Given the description of an element on the screen output the (x, y) to click on. 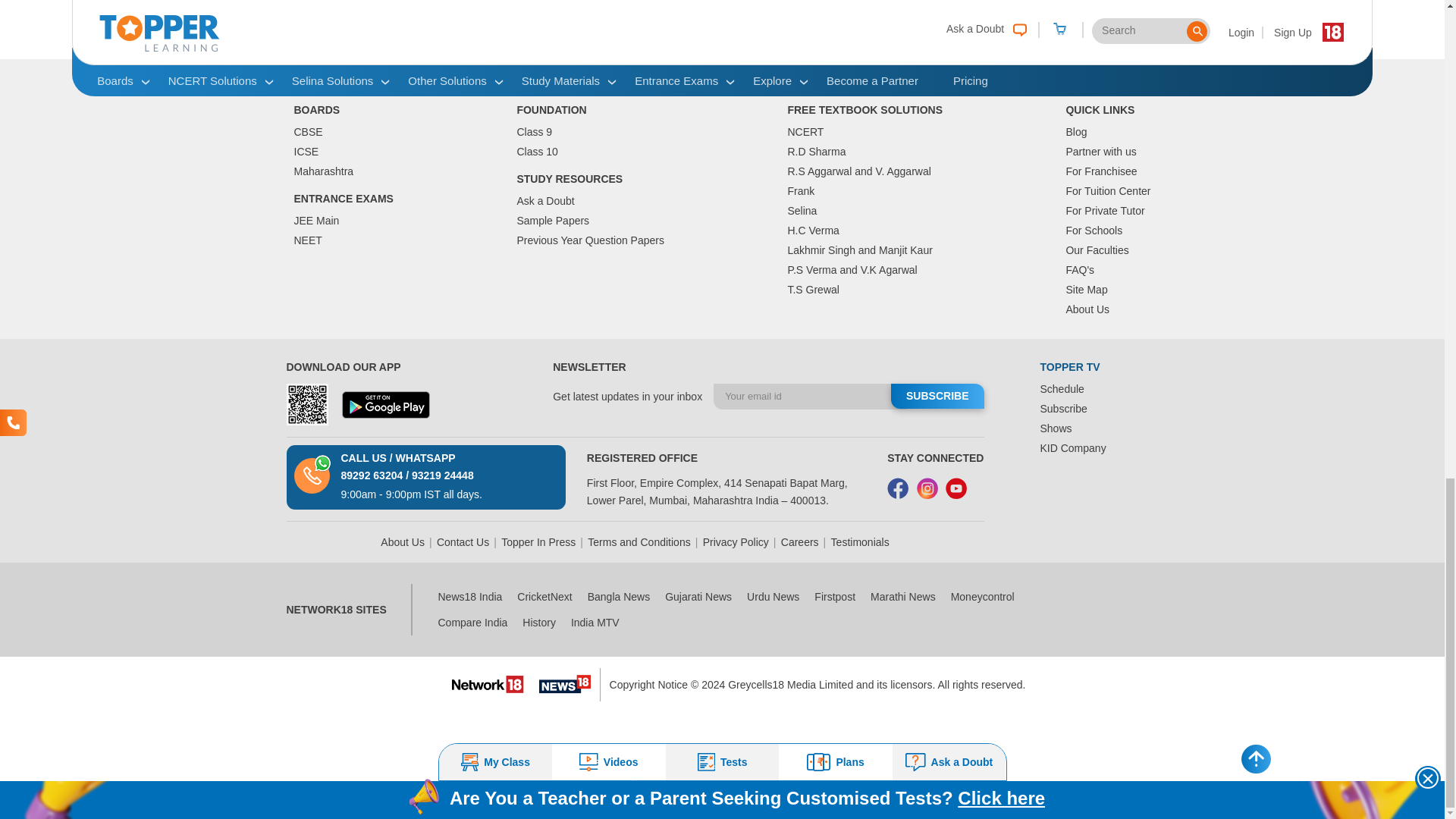
Googleplay (385, 404)
QR Code (307, 404)
